Given the description of an element on the screen output the (x, y) to click on. 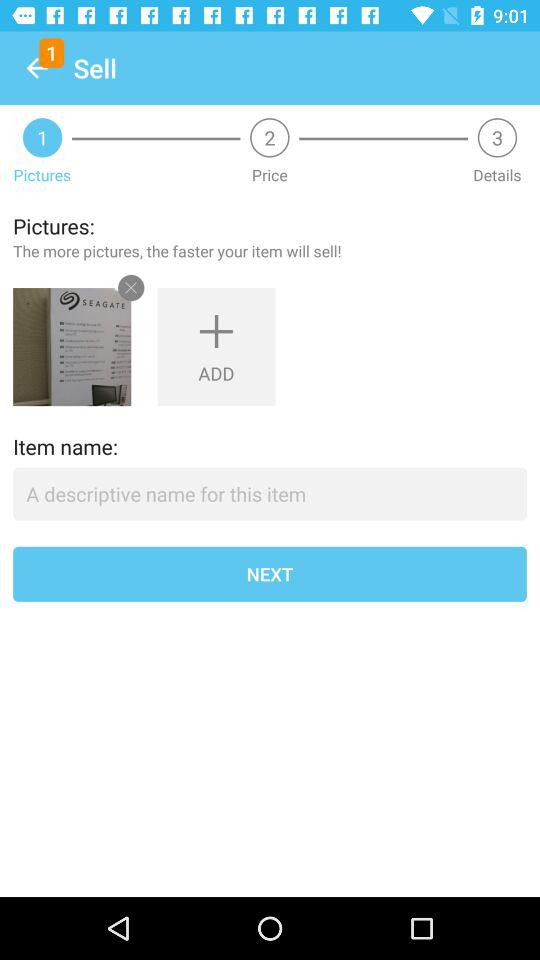
tap icon to the left of add (72, 347)
